Given the description of an element on the screen output the (x, y) to click on. 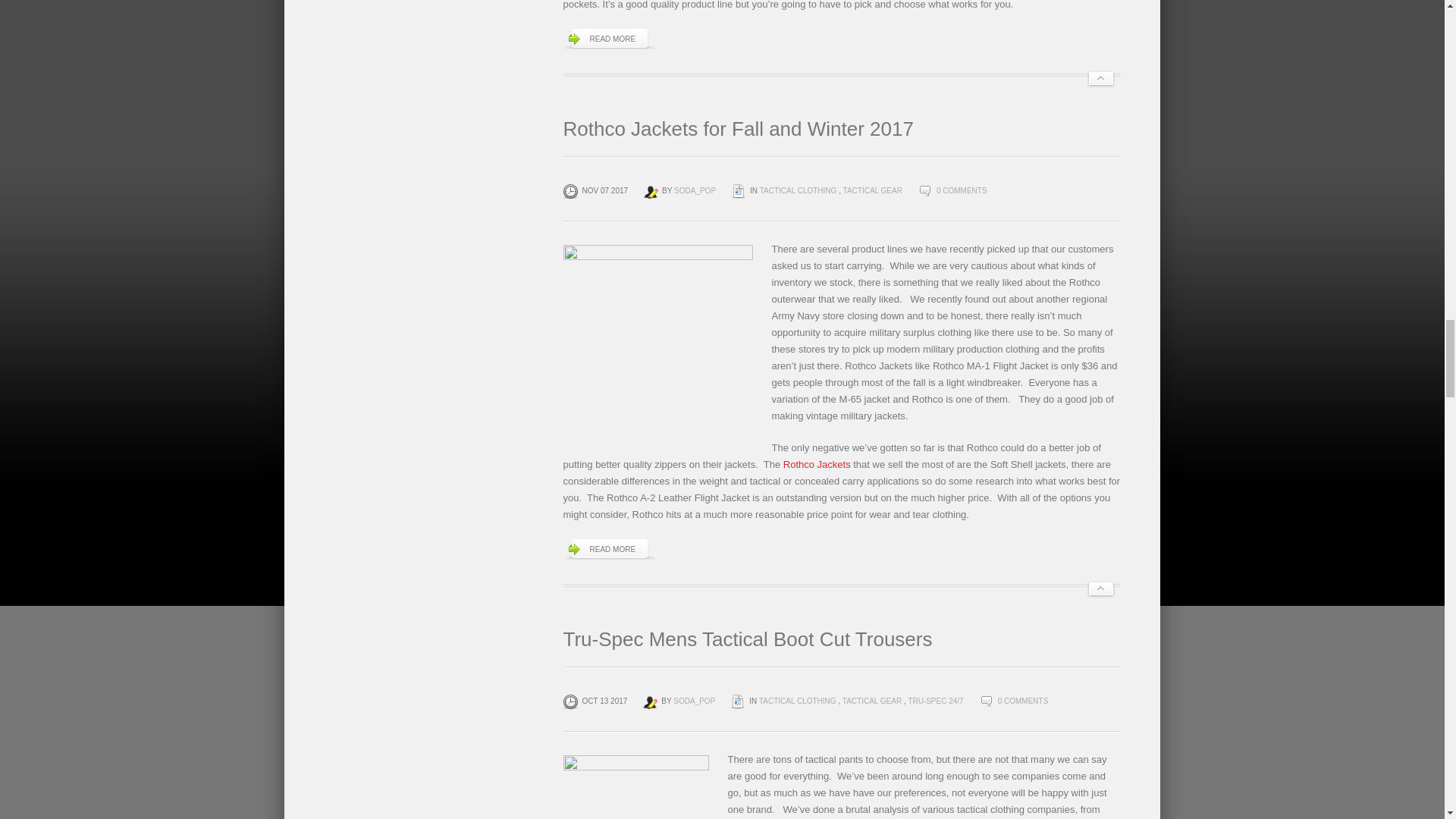
Permanent link to Rothco Jackets for Fall and Winter 2017 (737, 128)
TACTICAL CLOTHING (798, 190)
READ MORE (609, 38)
Rothco Jackets for Fall and Winter 2017 (737, 128)
Permanent link to Tru-Spec Mens Tactical Boot Cut Trousers (746, 639)
